Given the description of an element on the screen output the (x, y) to click on. 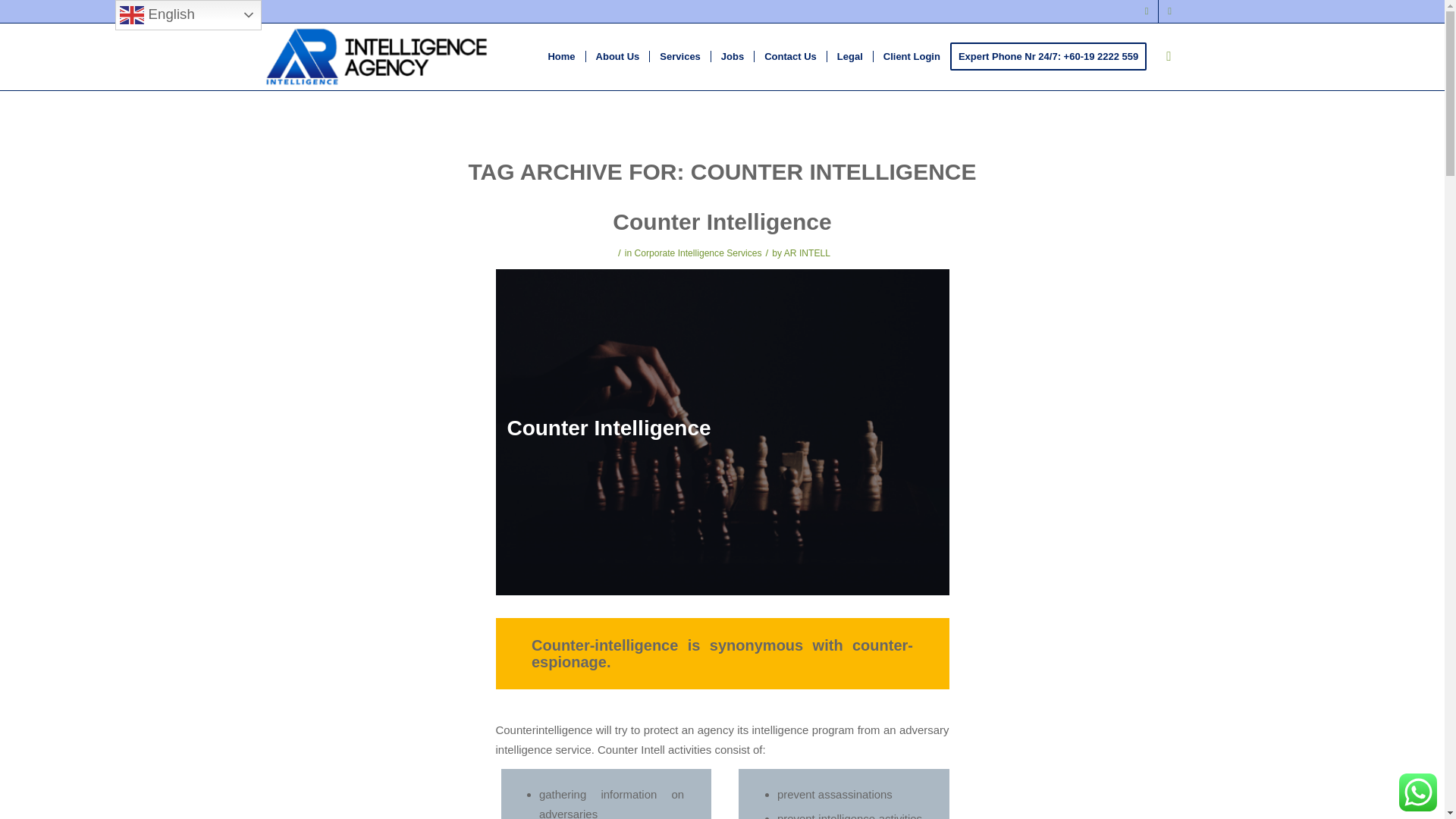
Services (679, 56)
About AR INTELL (617, 56)
Corporate Intelligence Services (697, 253)
Twitter (1146, 11)
About Us (617, 56)
Contact Us (790, 56)
Contact AR INTELL (790, 56)
LinkedIn (1169, 11)
Posts by AR INTELL (806, 253)
Counter Intelligence (721, 221)
